Given the description of an element on the screen output the (x, y) to click on. 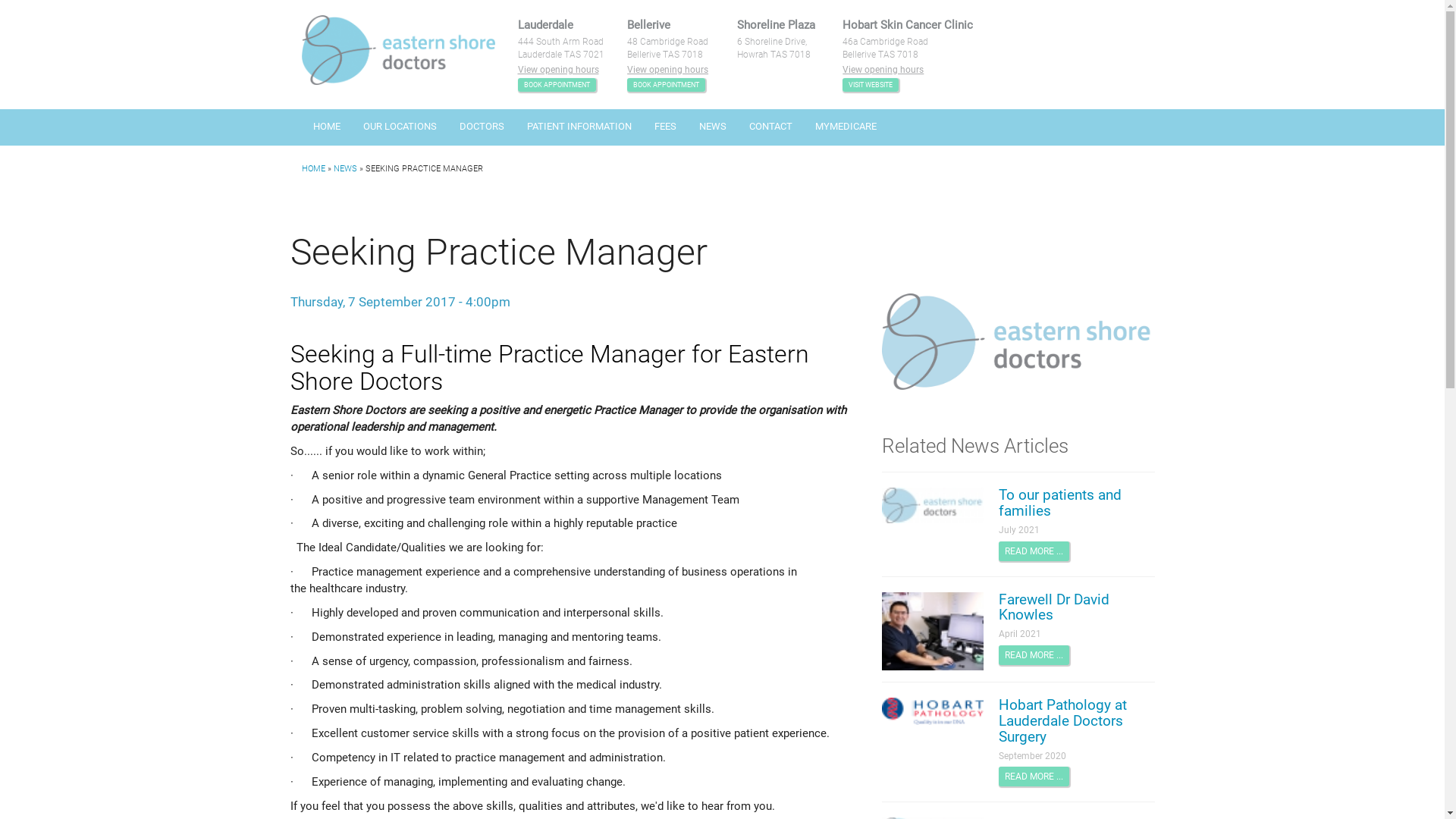
VISIT WEBSITE Element type: text (870, 84)
View opening hours Element type: text (557, 69)
To our patients and families Element type: text (1075, 503)
Farewell Dr David Knowles Element type: text (1075, 608)
PATIENT INFORMATION Element type: text (579, 127)
READ MORE ... Element type: text (1032, 776)
NEWS Element type: text (345, 168)
READ MORE ... Element type: text (1032, 551)
HOME Element type: text (326, 127)
View opening hours Element type: text (882, 69)
OUR LOCATIONS Element type: text (399, 127)
FEES Element type: text (665, 127)
Home Element type: hover (398, 49)
READ MORE ... Element type: text (1032, 655)
Hobart Pathology at Lauderdale Doctors Surgery Element type: text (1075, 721)
BOOK APPOINTMENT Element type: text (556, 84)
CONTACT Element type: text (770, 127)
BOOK APPOINTMENT Element type: text (666, 84)
DOCTORS Element type: text (480, 127)
NEWS Element type: text (712, 127)
View opening hours Element type: text (667, 69)
Skip to main content Element type: text (52, 0)
HOME Element type: text (313, 168)
MYMEDICARE Element type: text (845, 127)
